Given the description of an element on the screen output the (x, y) to click on. 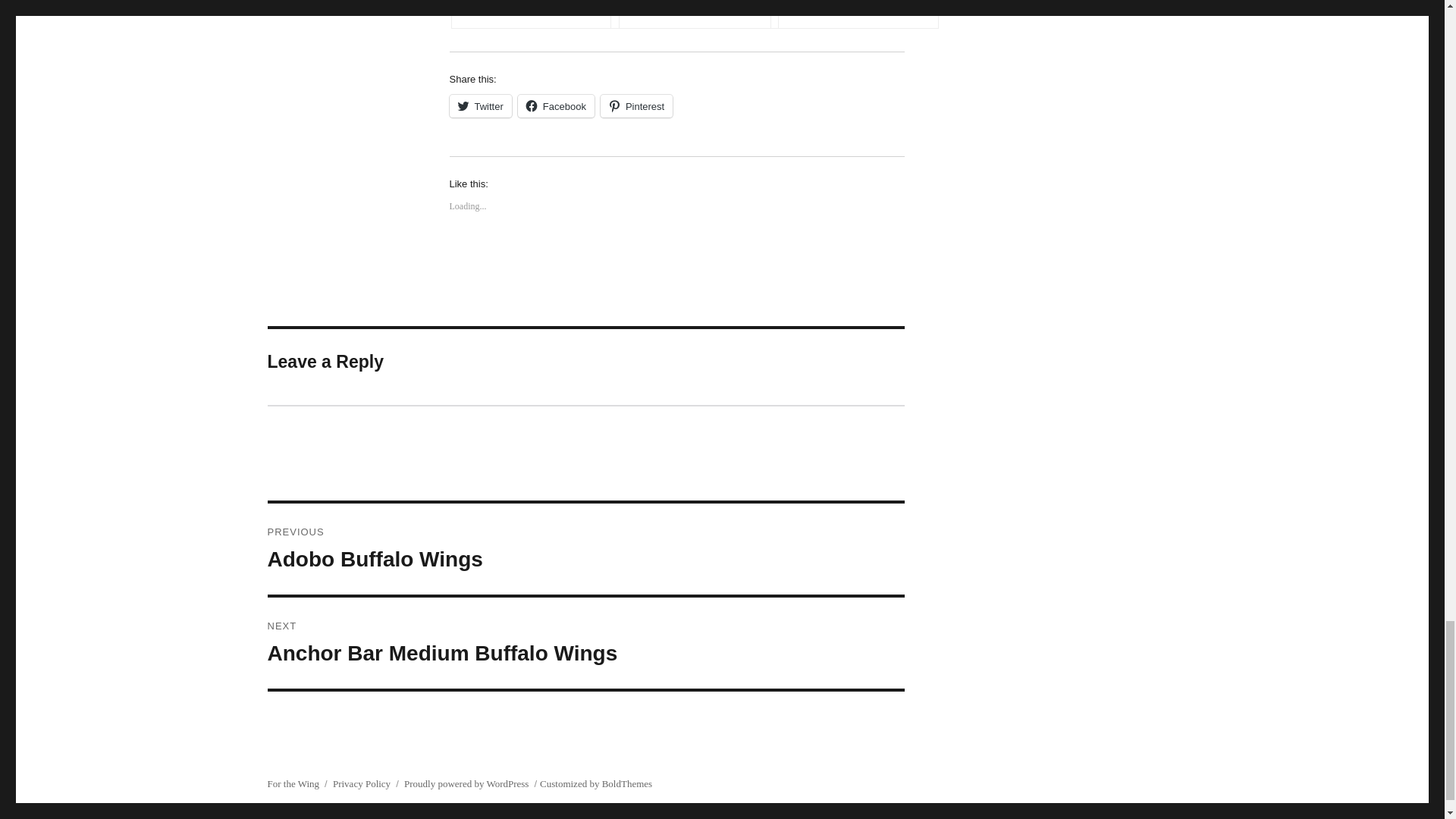
Click to share on Twitter (479, 106)
Click to share on Facebook (556, 106)
Click to share on Pinterest (635, 106)
